Given the description of an element on the screen output the (x, y) to click on. 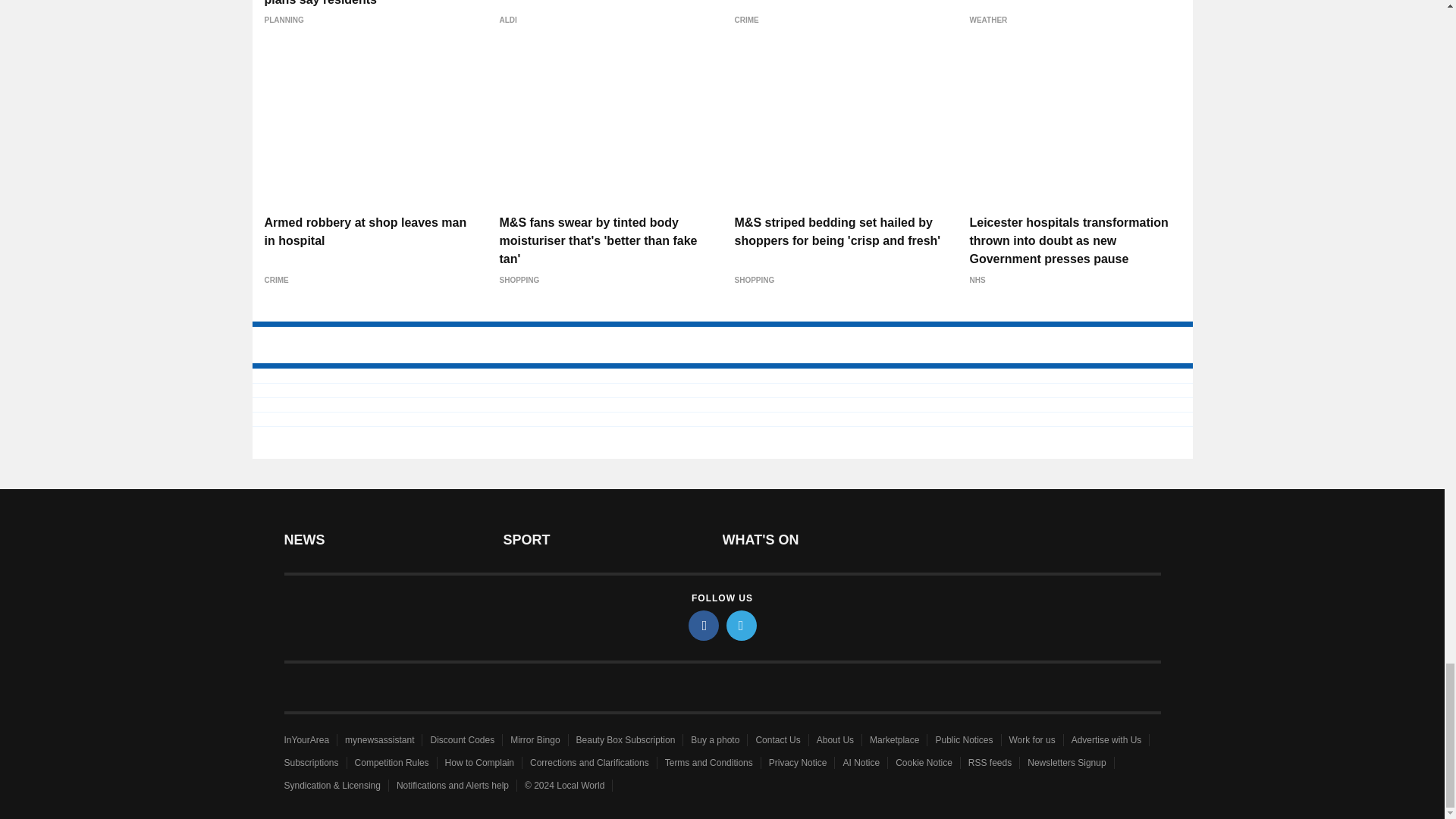
twitter (741, 625)
facebook (703, 625)
